Given the description of an element on the screen output the (x, y) to click on. 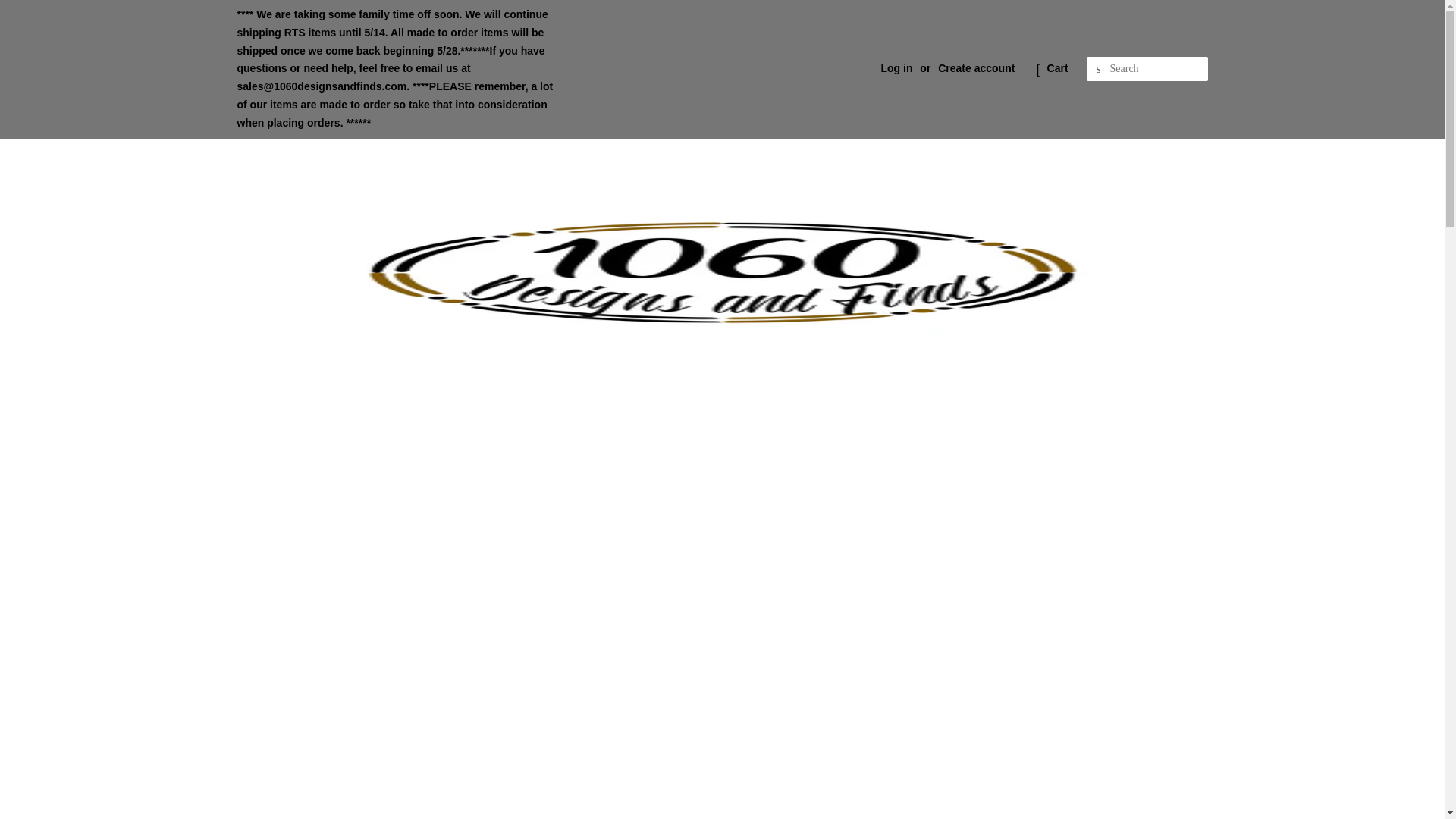
Cart (1057, 68)
Create account (975, 68)
Log in (896, 68)
Search (1097, 68)
